Given the description of an element on the screen output the (x, y) to click on. 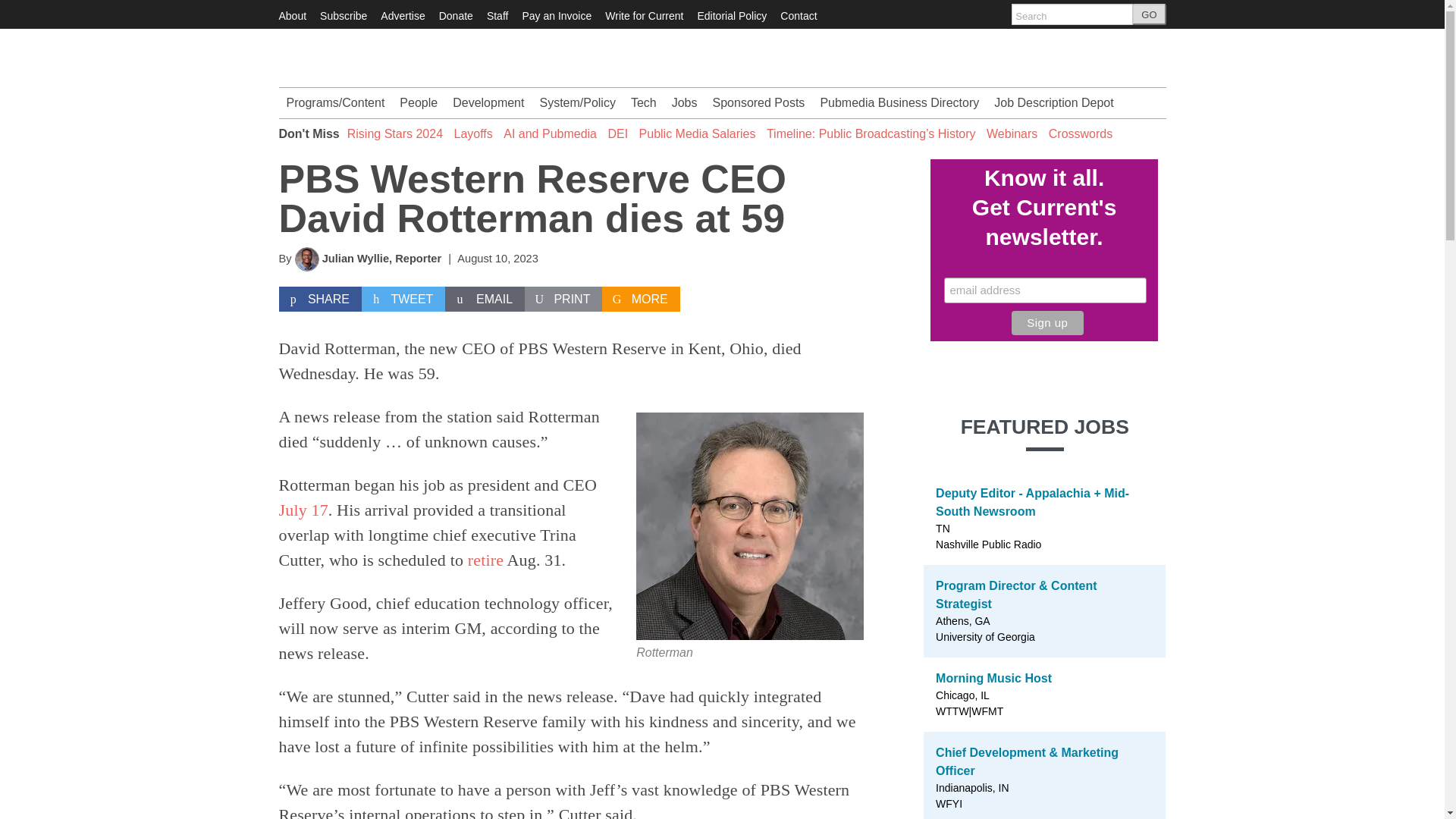
GO (1149, 14)
Contact (798, 15)
Staff (497, 15)
Print this article (563, 299)
Write for Current (643, 15)
Editorial Policy (732, 15)
Pay an Invoice (556, 15)
About (293, 15)
Read All Posts By Julian Wyllie (354, 258)
Donate (456, 15)
